Given the description of an element on the screen output the (x, y) to click on. 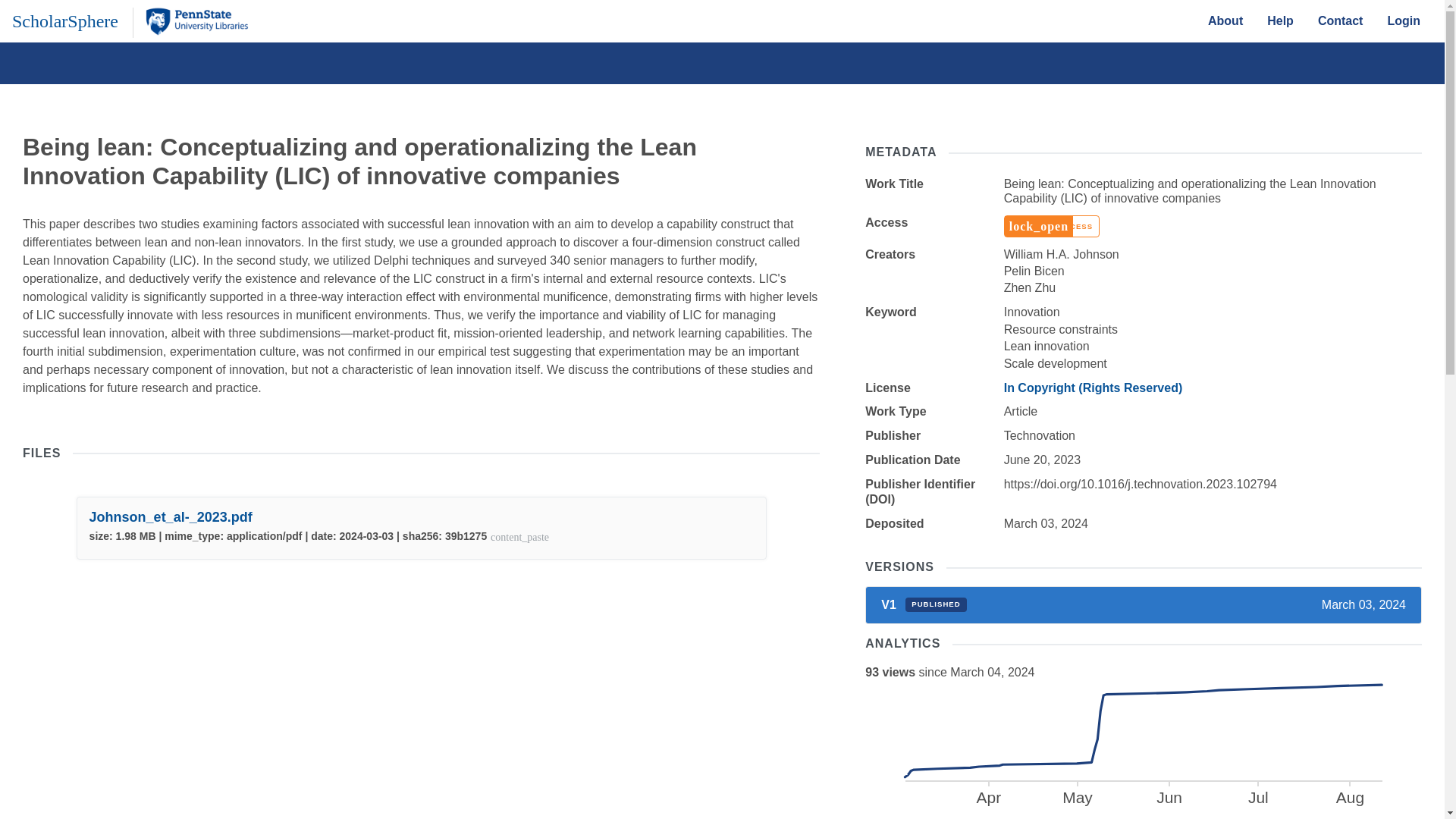
Login (1403, 20)
ScholarSphere (64, 20)
About (1142, 744)
V1 PUBLISHED (1225, 20)
Help (923, 604)
Contact (1280, 20)
